Given the description of an element on the screen output the (x, y) to click on. 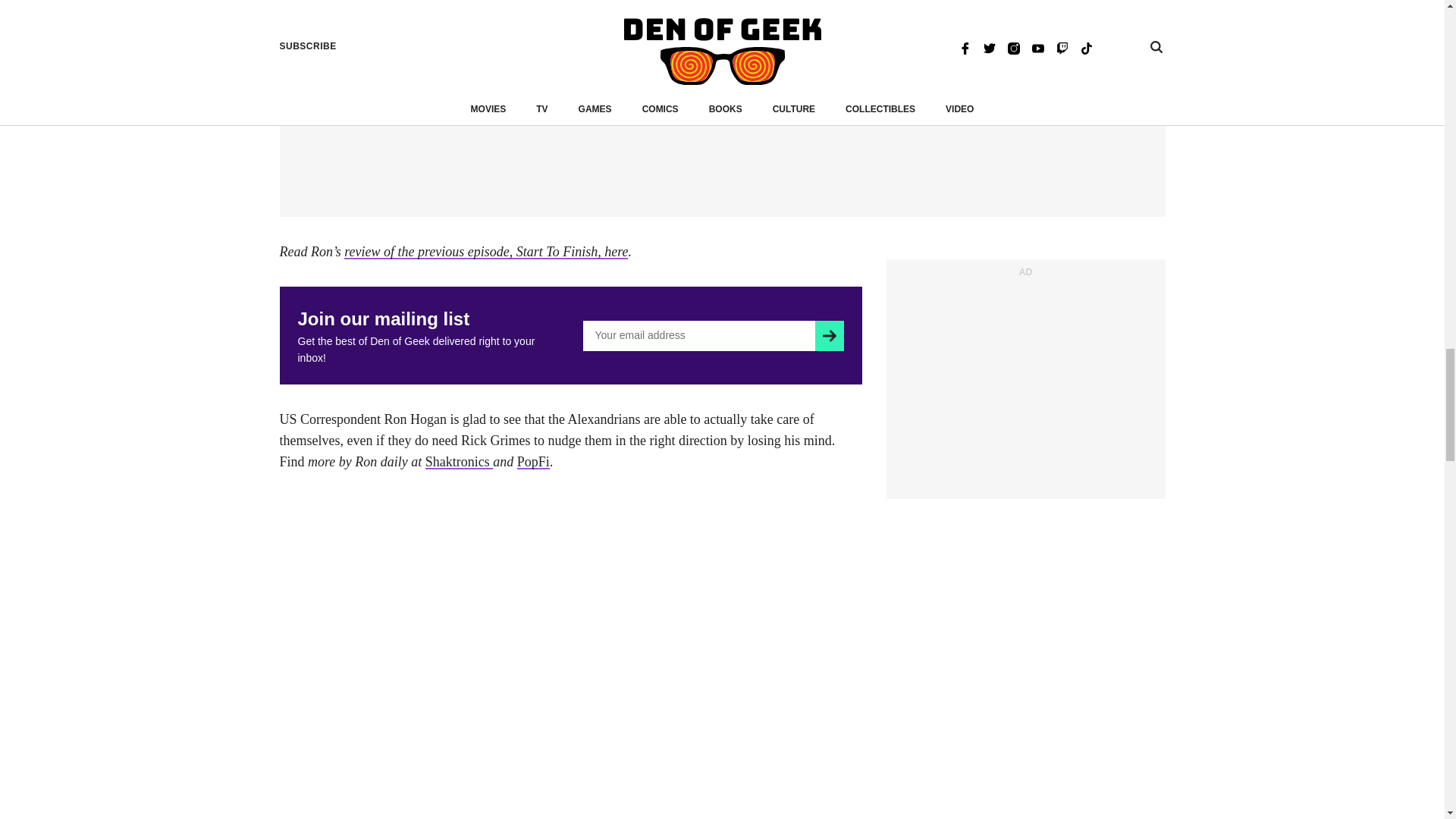
PopFi (533, 461)
review of the previous episode, Start To Finish, here (485, 251)
Shaktronics (459, 461)
Subscribe (829, 336)
